Given the description of an element on the screen output the (x, y) to click on. 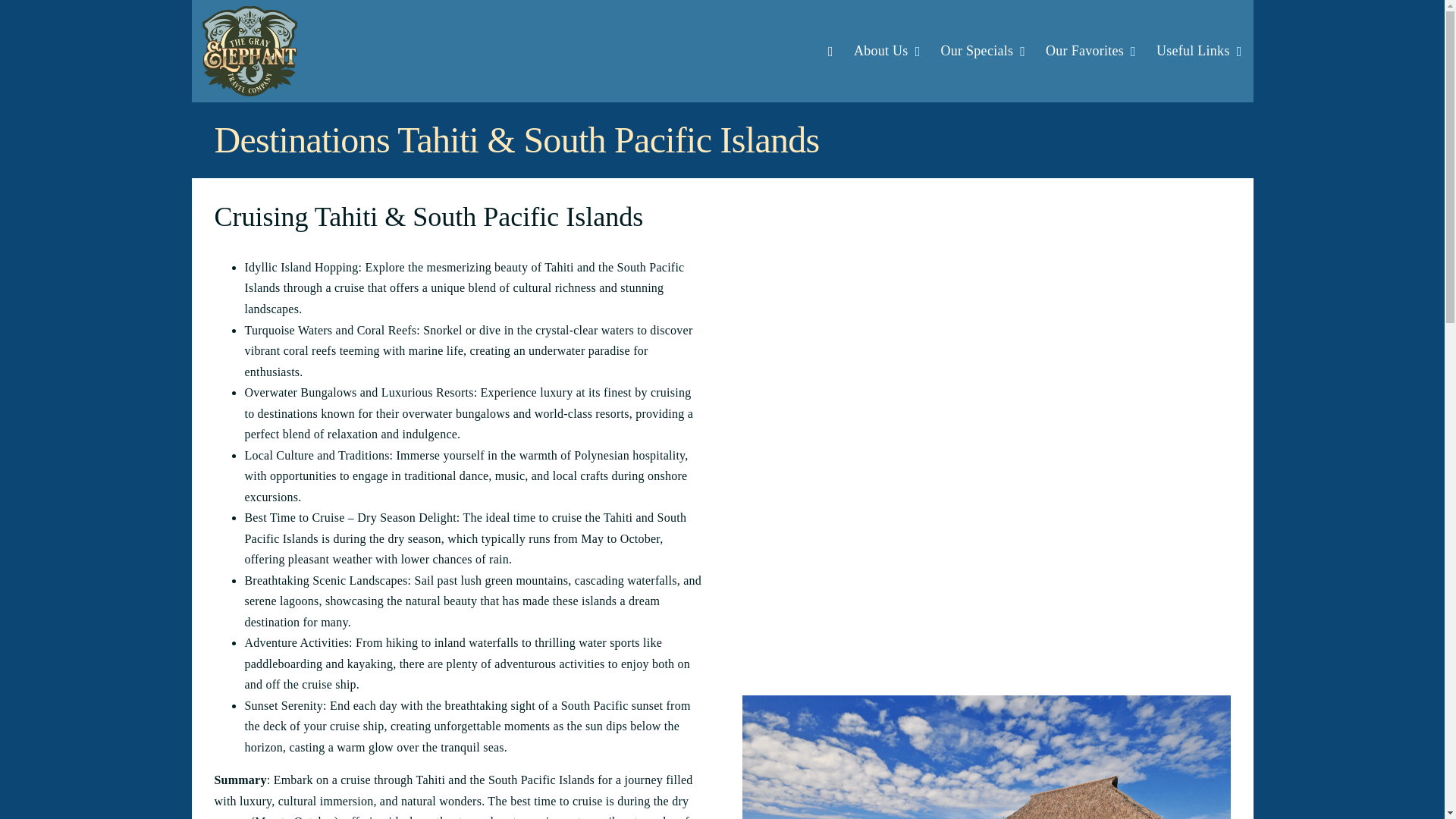
Our Specials (974, 51)
About Us (878, 51)
Our Favorites (1082, 51)
South Pacific (721, 51)
